Given the description of an element on the screen output the (x, y) to click on. 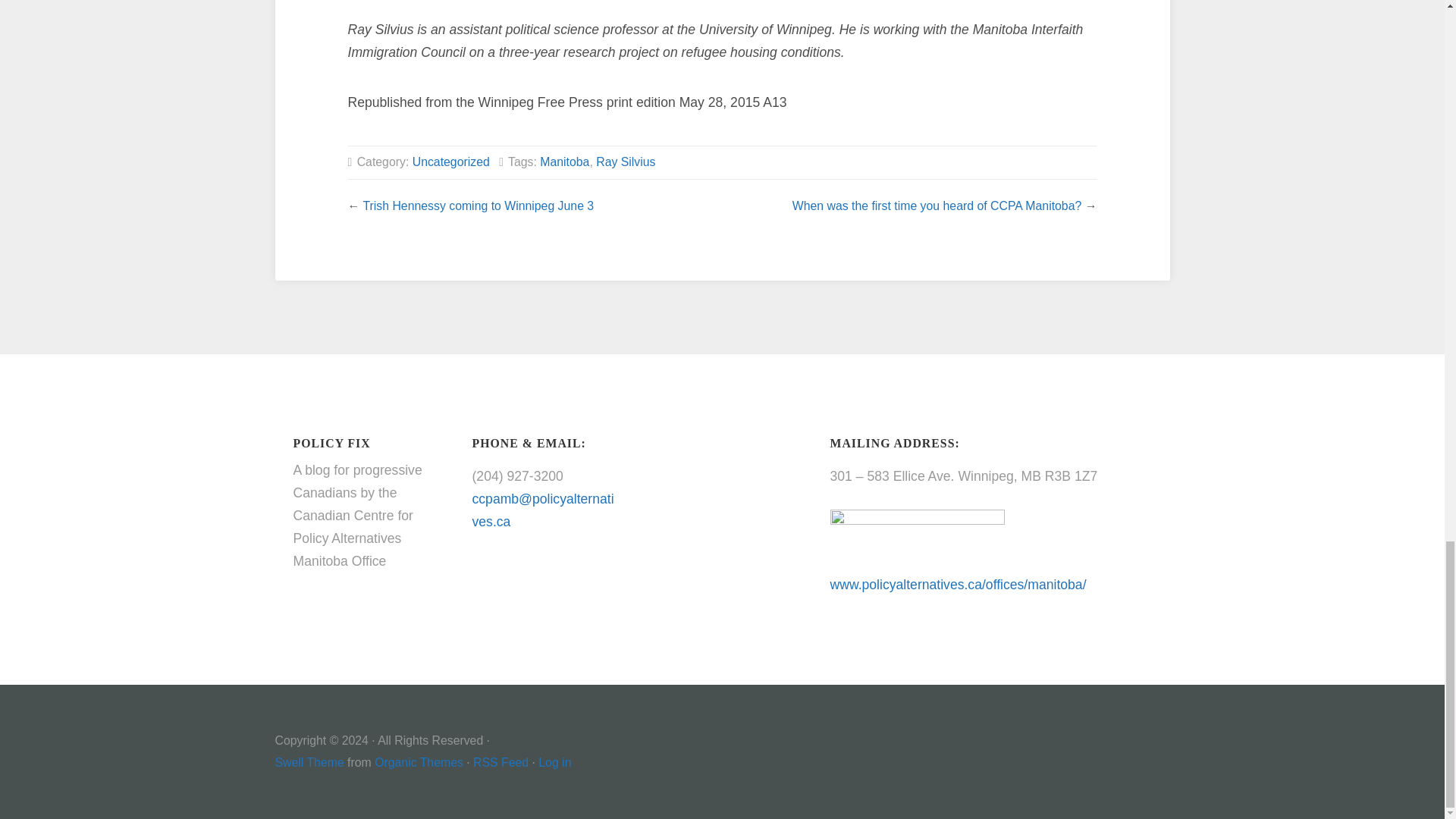
When was the first time you heard of CCPA Manitoba? (936, 205)
RSS Feed (500, 762)
Trish Hennessy coming to Winnipeg June 3 (478, 205)
Organic Themes (418, 762)
Uncategorized (450, 161)
Ray Silvius (625, 161)
Manitoba (564, 161)
Log in (554, 762)
Swell Theme (309, 762)
